Given the description of an element on the screen output the (x, y) to click on. 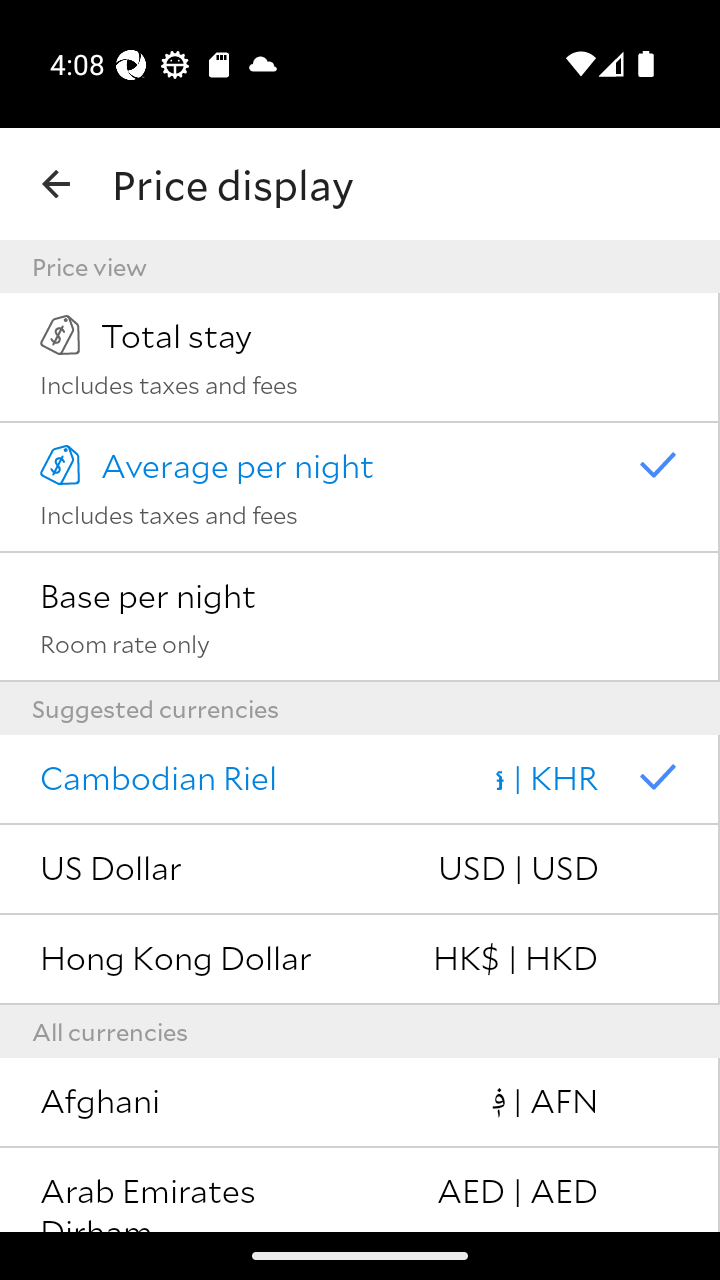
navigation_button (56, 184)
Average per night Includes taxes and fees (360, 487)
Base per night Room rate only (360, 617)
Cambodian Riel ៛ | KHR (360, 779)
US Dollar USD | USD (360, 870)
Hong Kong Dollar HK$ | HKD (360, 959)
Afghani ‎؋ | AFN (360, 1103)
Arab Emirates Dirham AED | AED (360, 1189)
